Given the description of an element on the screen output the (x, y) to click on. 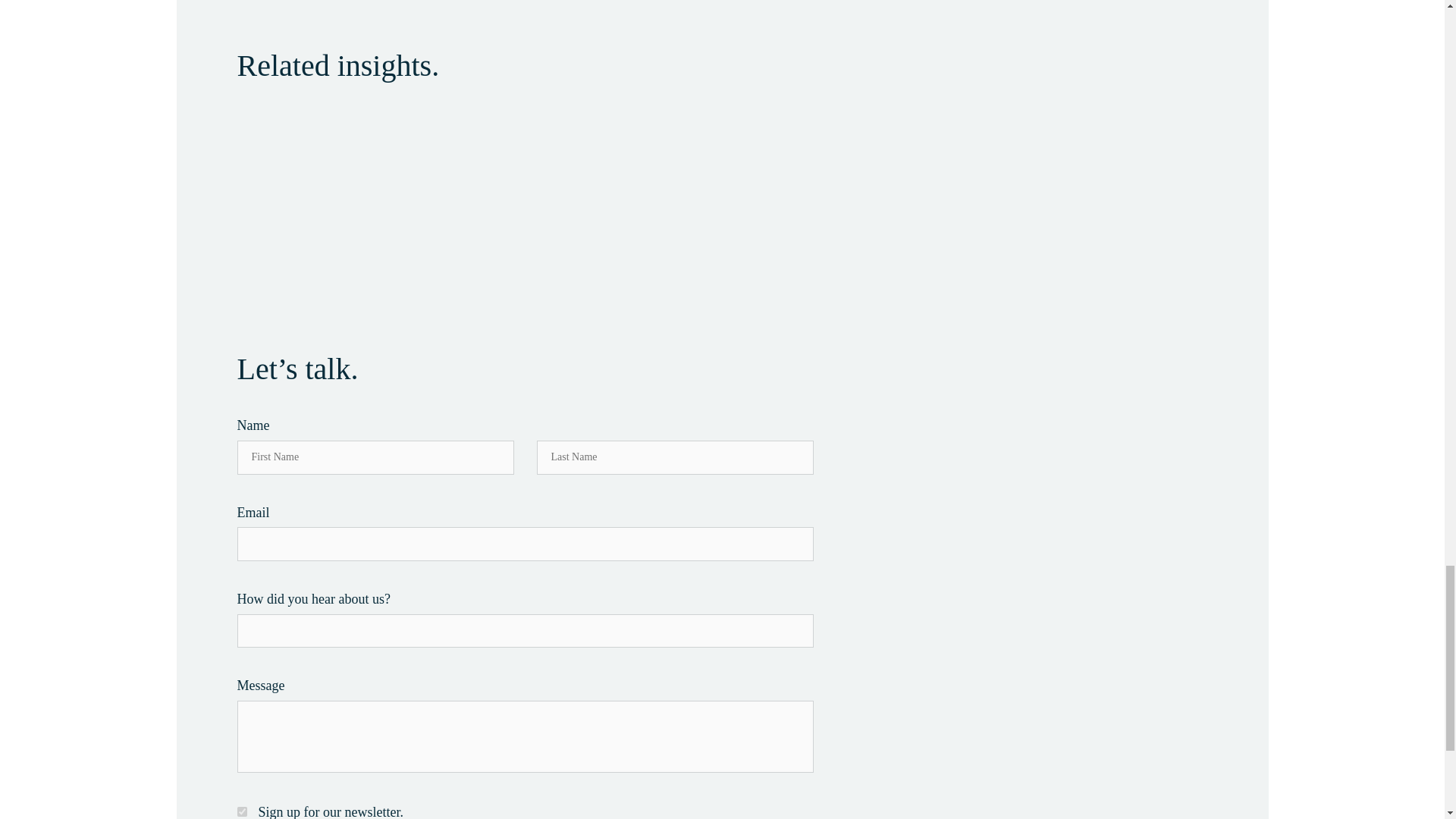
1 (240, 811)
